Given the description of an element on the screen output the (x, y) to click on. 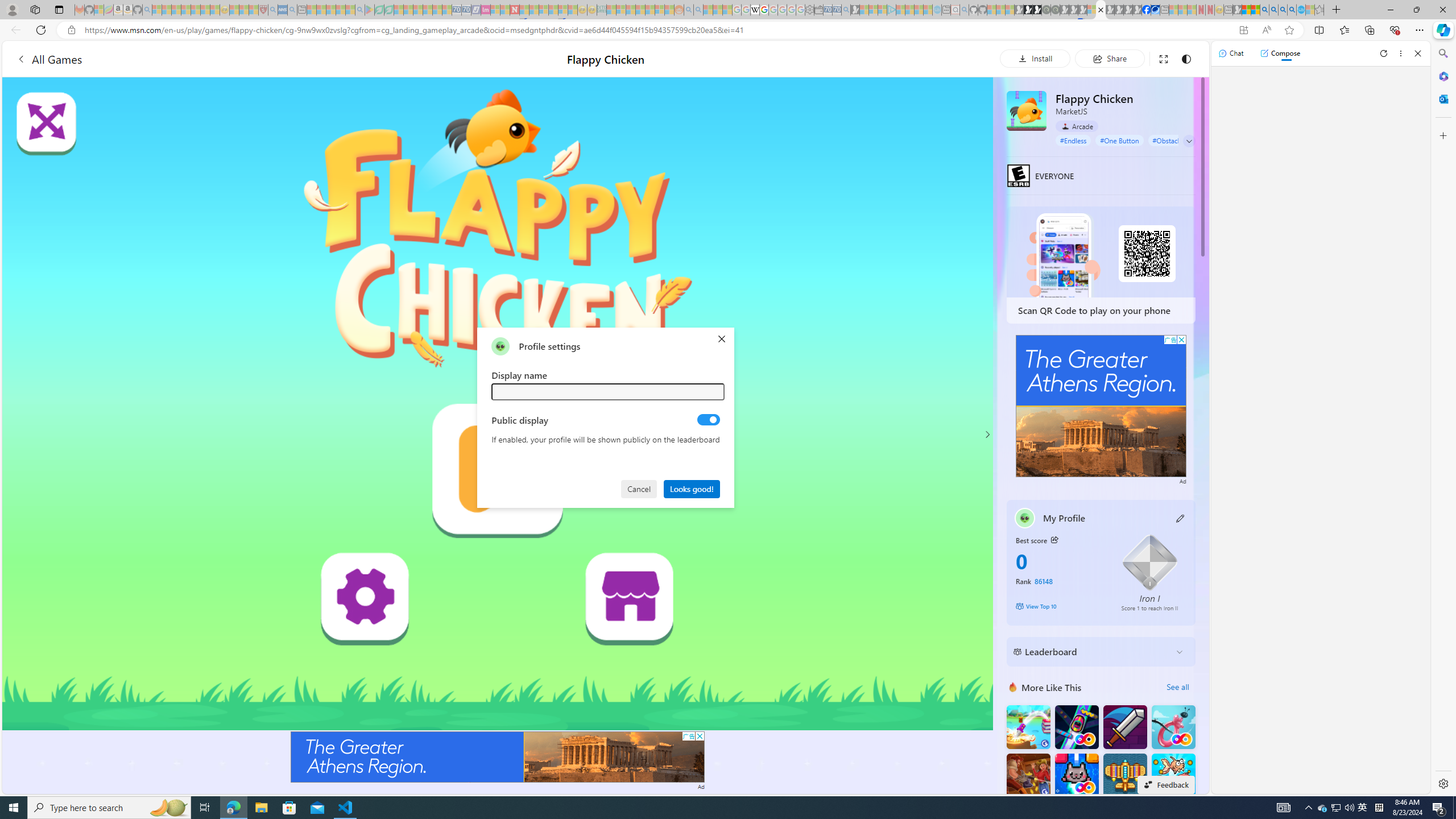
Future Focus Report 2024 - Sleeping (1054, 9)
#One Button (1119, 140)
EVERYONE (1018, 175)
Fish Merge FRVR (1173, 775)
Share (1109, 58)
